Given the description of an element on the screen output the (x, y) to click on. 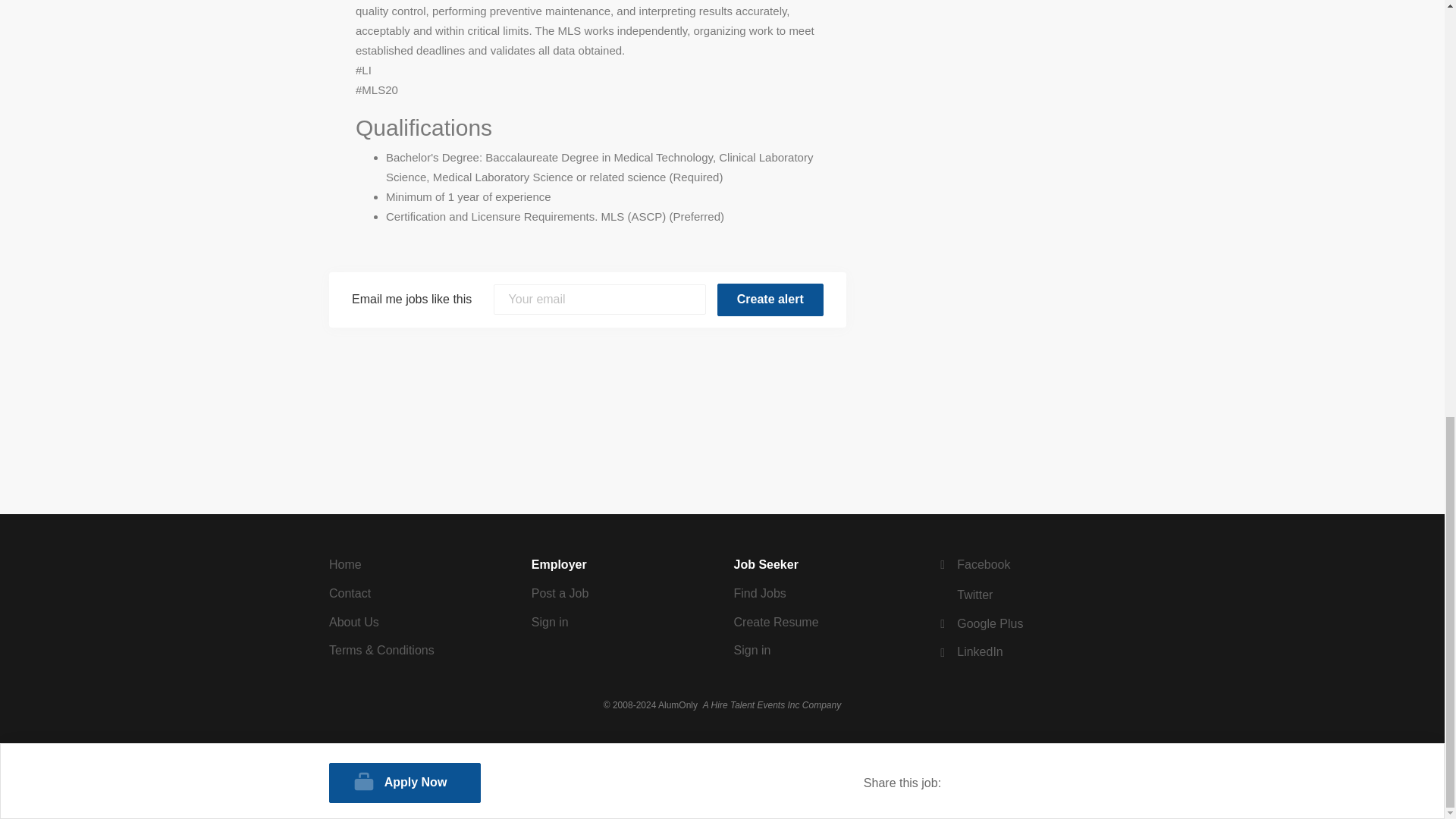
Home (345, 563)
Create alert (770, 299)
Facebook (973, 563)
Sign in (550, 621)
Create alert (770, 299)
Contact (350, 593)
Create Resume (775, 621)
Sign in (752, 649)
Post a Job (560, 593)
Twitter (964, 594)
About Us (353, 621)
Google Plus (979, 623)
Find Jobs (759, 593)
